Given the description of an element on the screen output the (x, y) to click on. 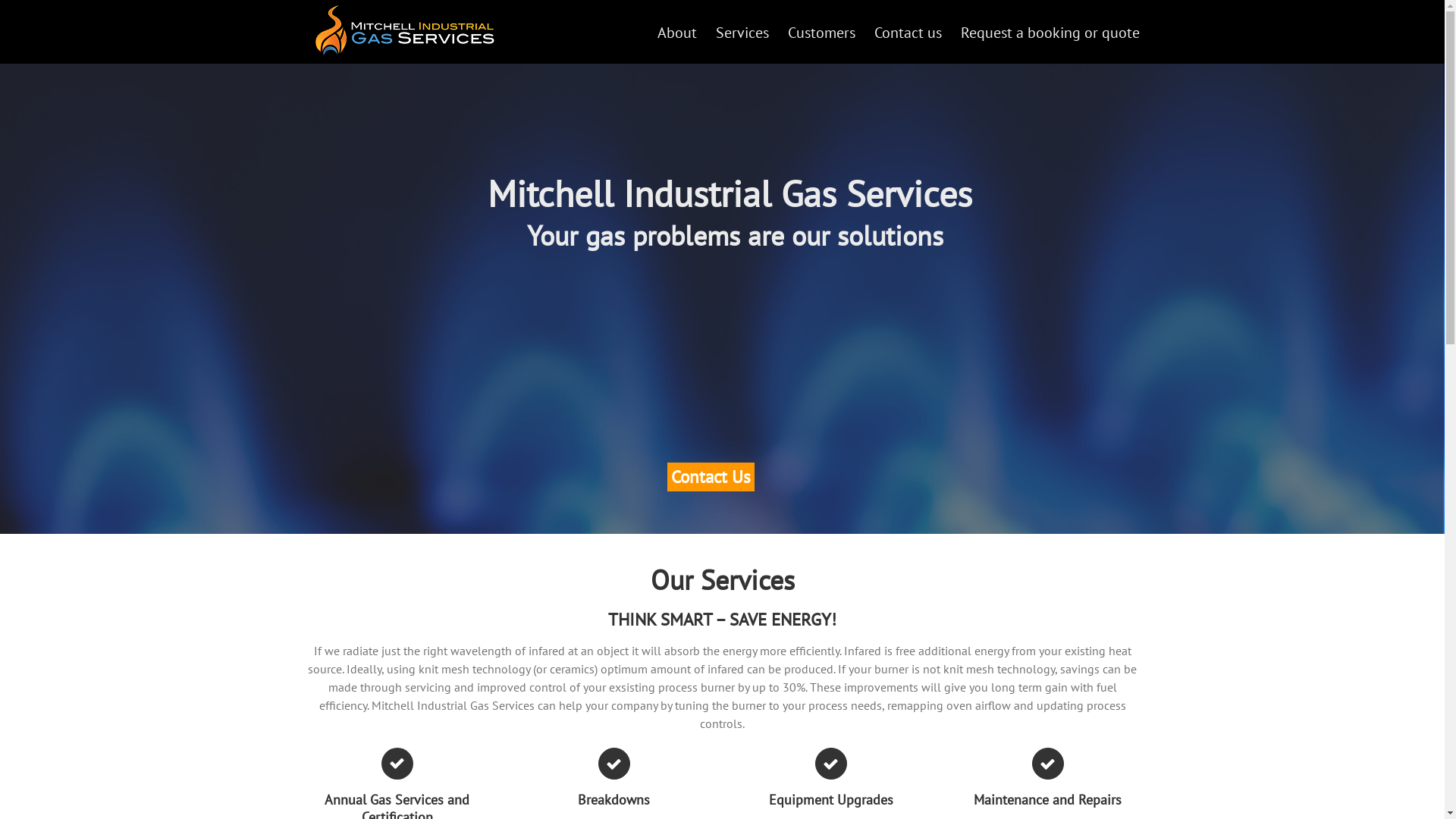
Services Element type: text (741, 31)
Customers Element type: text (820, 31)
Contact Us Element type: text (709, 476)
Contact us Element type: text (907, 31)
About Element type: text (676, 31)
Request a booking or quote Element type: text (1049, 31)
